Given the description of an element on the screen output the (x, y) to click on. 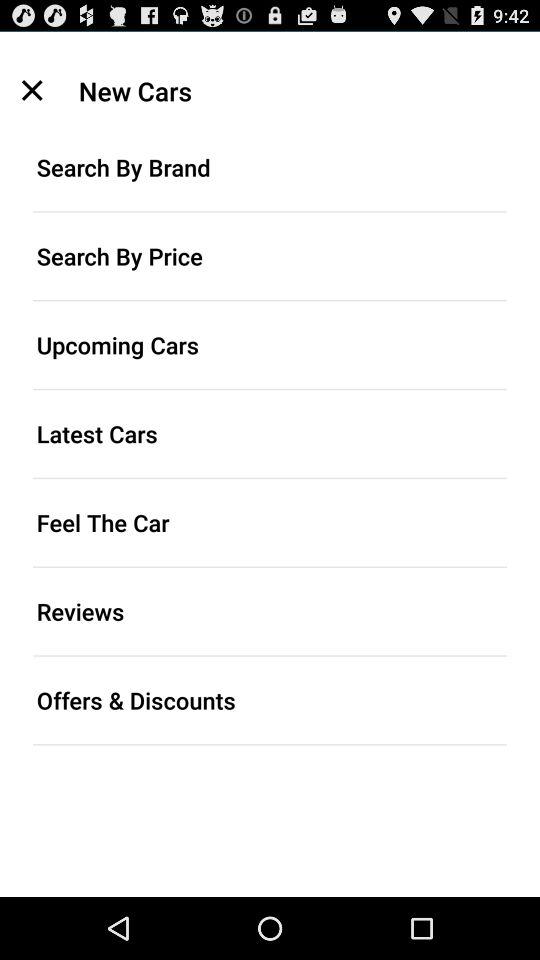
tap the reviews (270, 611)
